Given the description of an element on the screen output the (x, y) to click on. 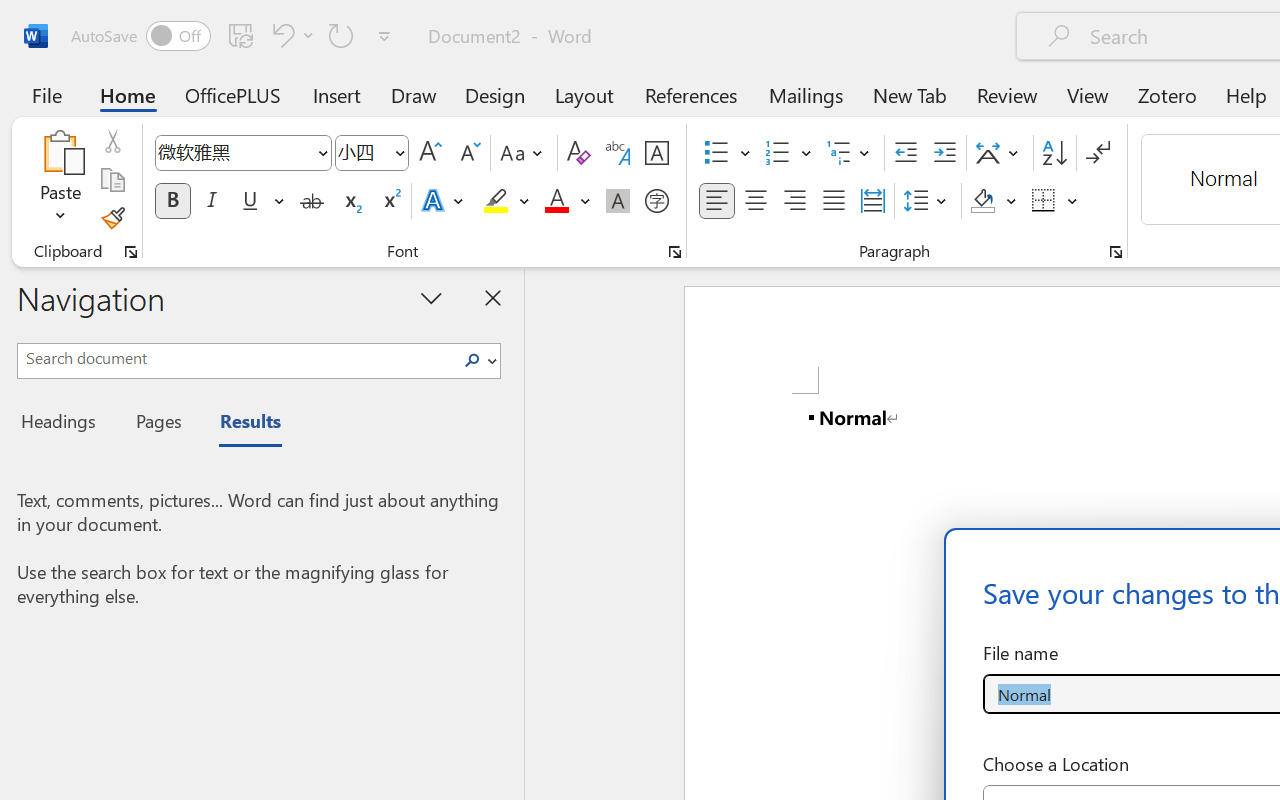
Search (471, 360)
Clear Formatting (578, 153)
Bullets (716, 153)
Center (756, 201)
Search document (236, 358)
Superscript (390, 201)
Draw (413, 94)
Zotero (1166, 94)
References (690, 94)
Save (241, 35)
OfficePLUS (233, 94)
Repeat Style (341, 35)
Increase Indent (944, 153)
Sort... (1054, 153)
Underline (261, 201)
